Given the description of an element on the screen output the (x, y) to click on. 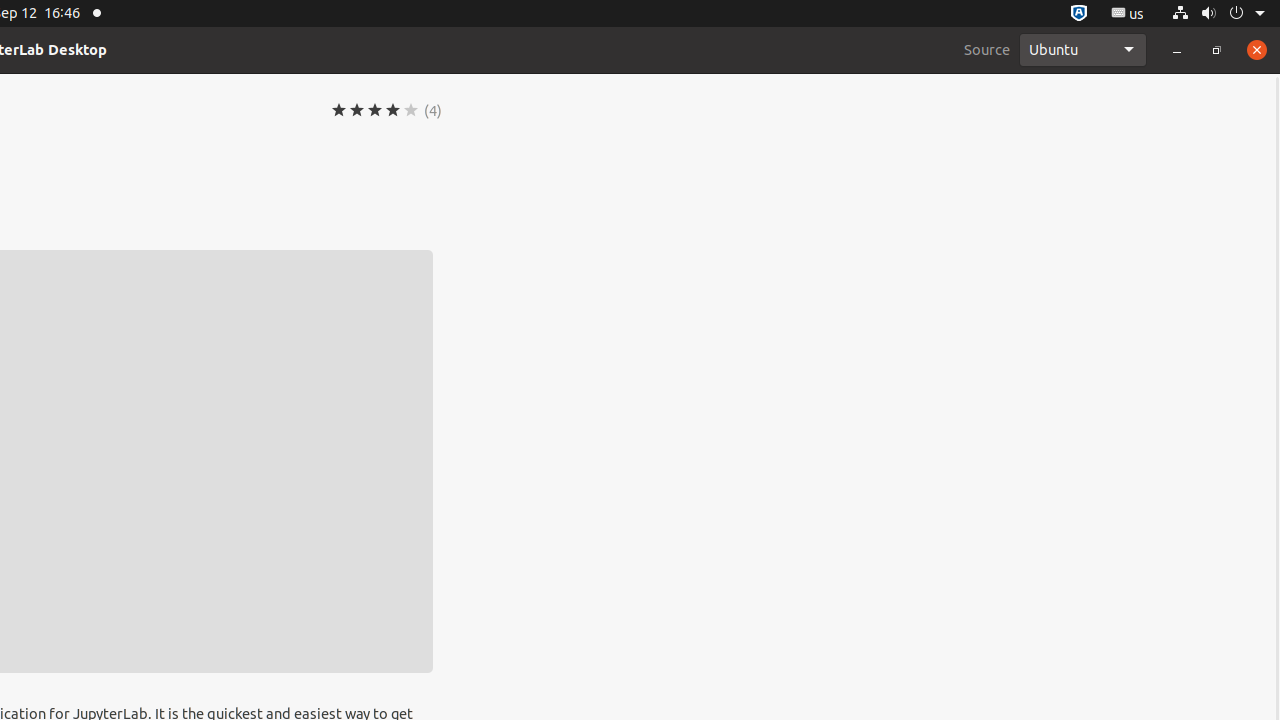
Minimize Element type: push-button (1177, 50)
Restore Element type: push-button (1217, 50)
Close Element type: push-button (1257, 50)
